Given the description of an element on the screen output the (x, y) to click on. 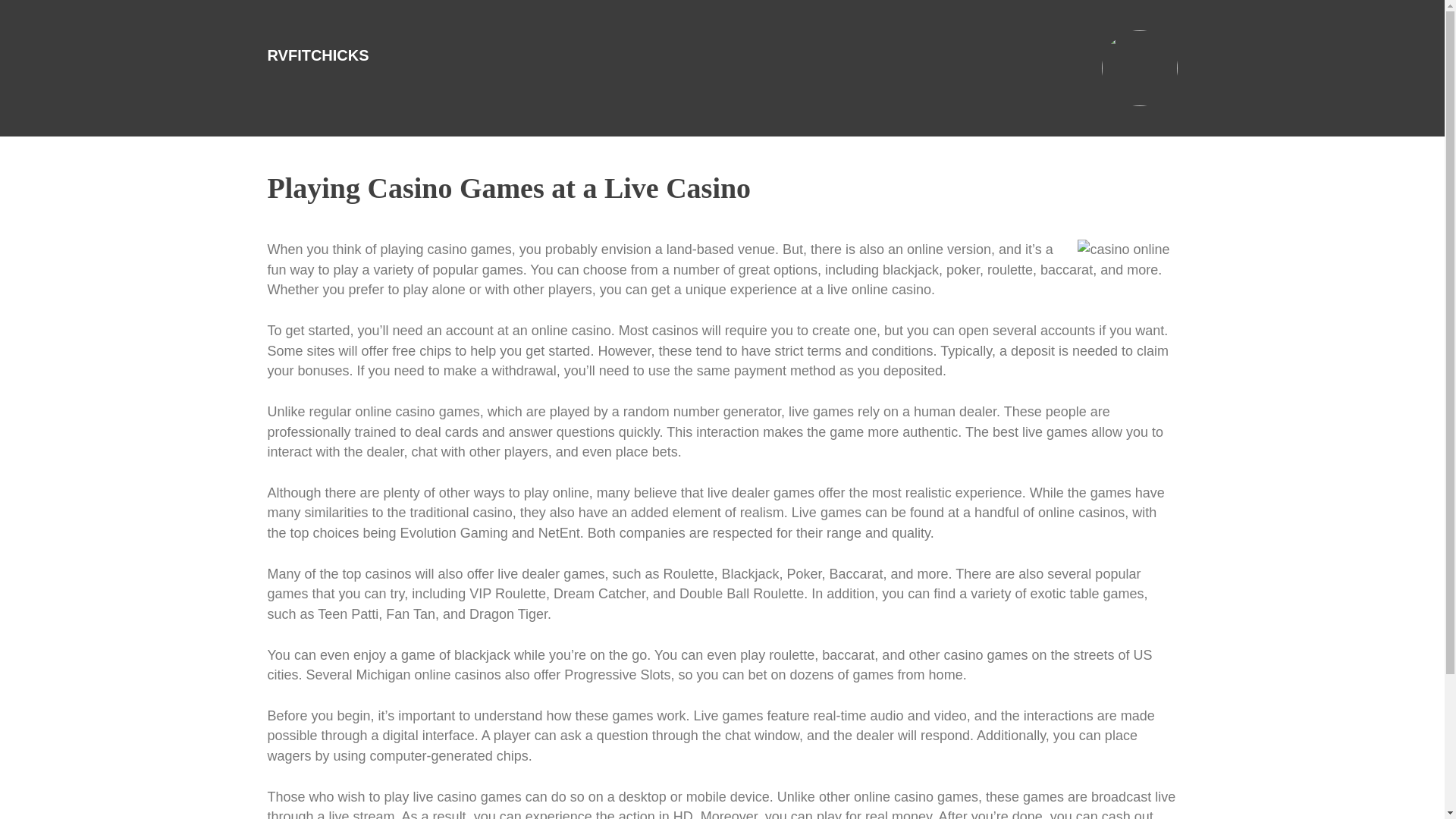
rvfitchicks (317, 54)
RVFITCHICKS (317, 54)
